Given the description of an element on the screen output the (x, y) to click on. 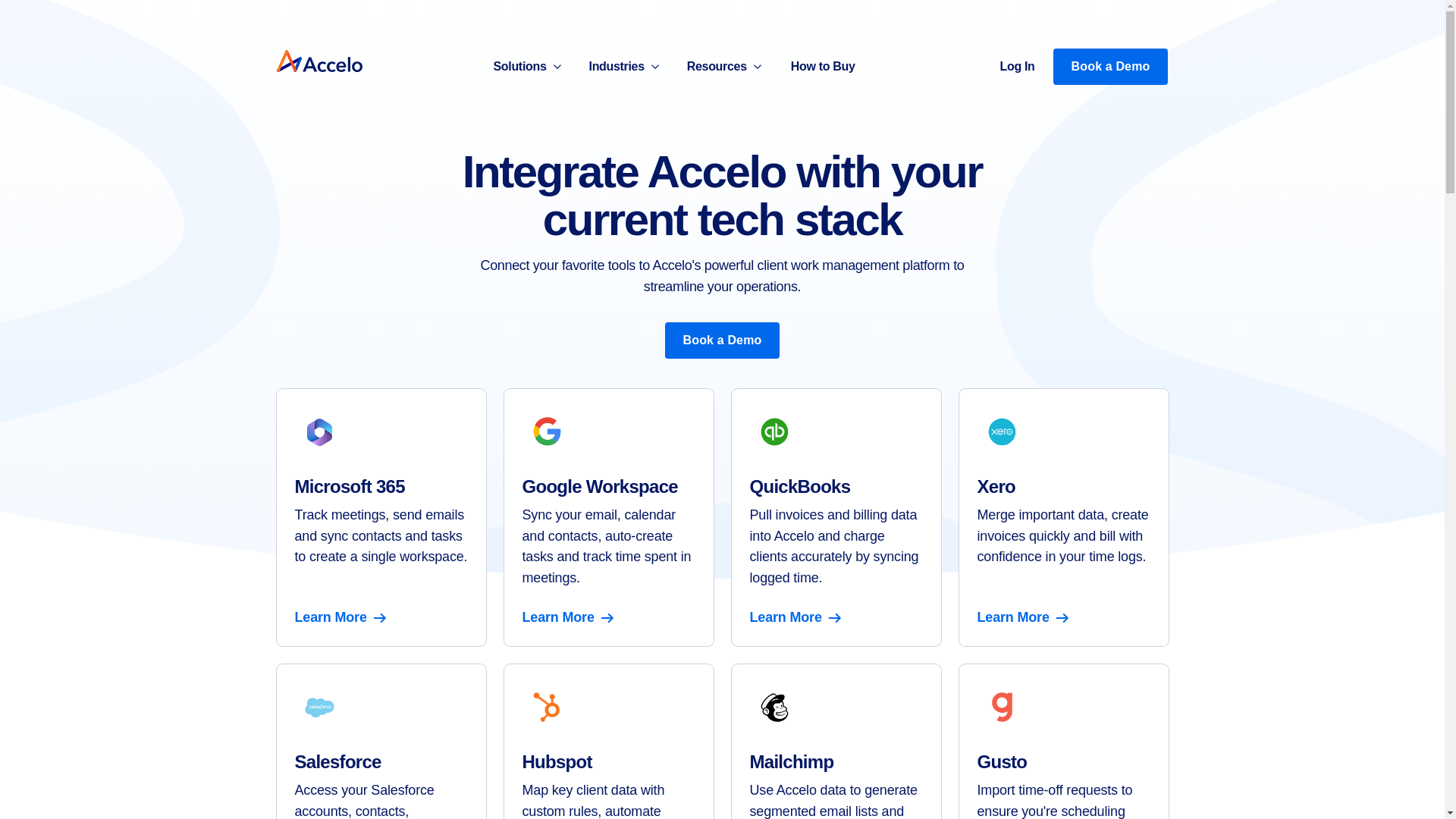
Log In (1015, 66)
How to Buy (822, 66)
Book a Demo (722, 340)
Book a Demo (1110, 66)
